Given the description of an element on the screen output the (x, y) to click on. 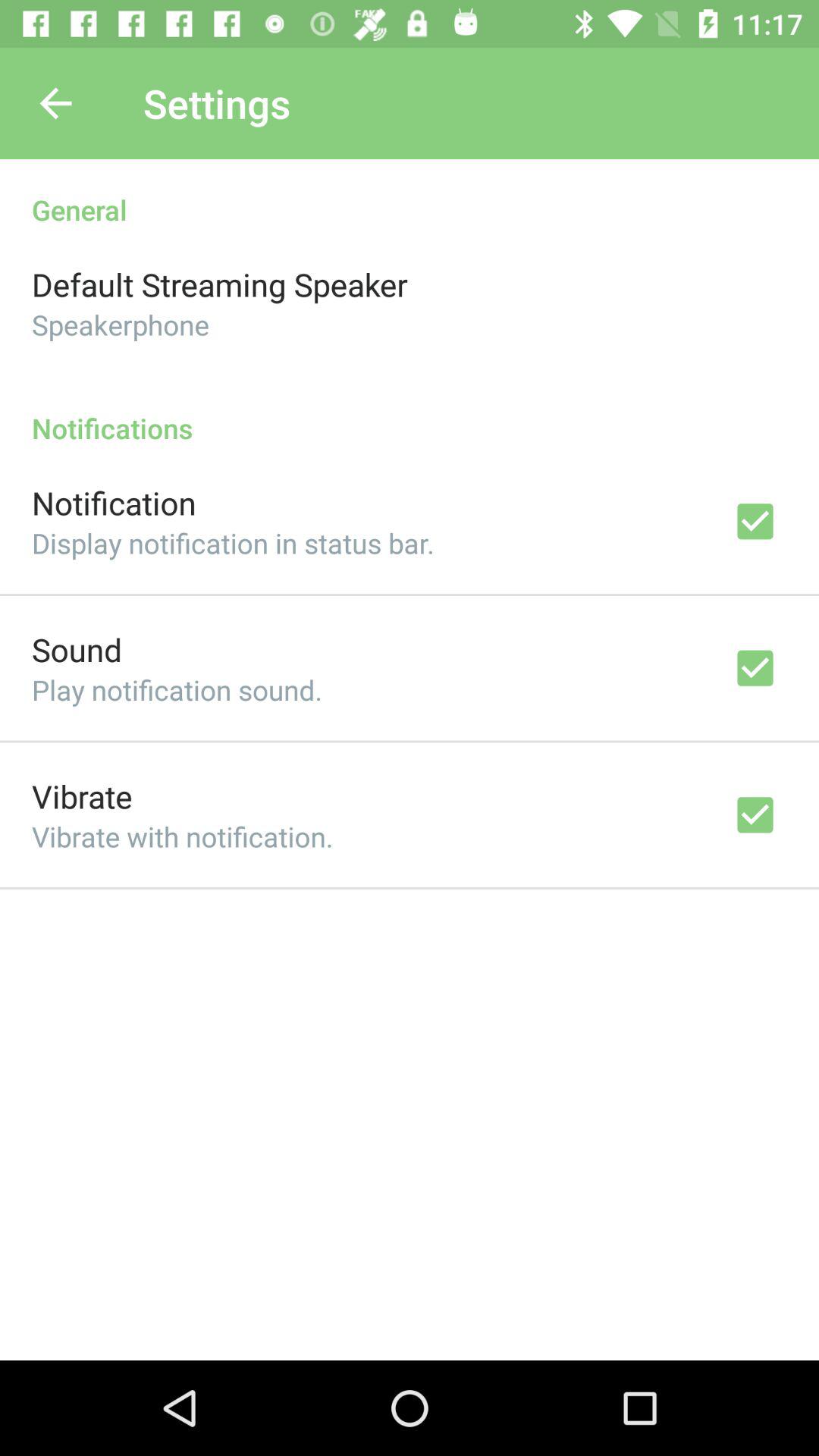
turn off icon above the default streaming speaker icon (409, 193)
